Given the description of an element on the screen output the (x, y) to click on. 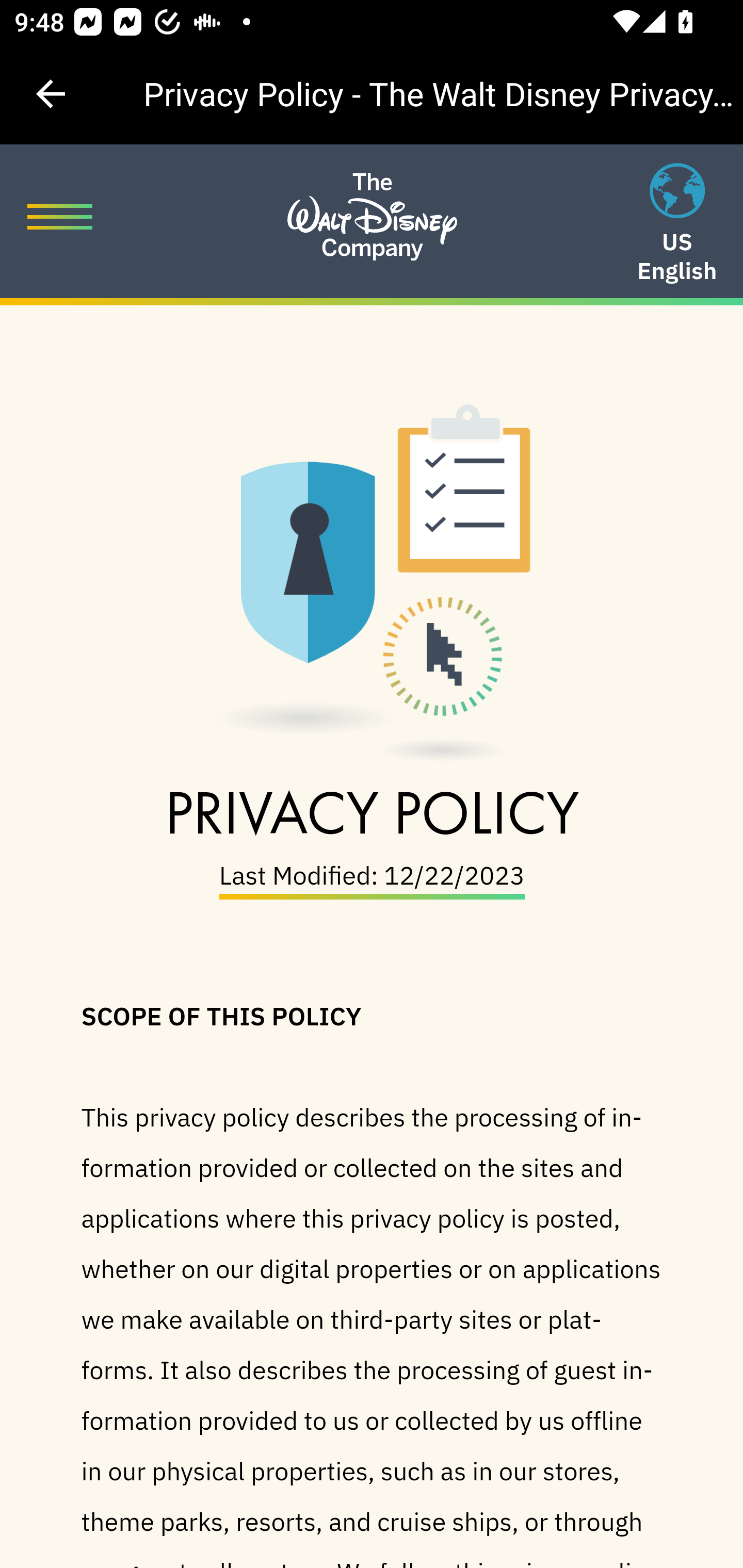
Navigate up (50, 93)
The Walt Disney Privacy Center (371, 190)
US English US English (677, 224)
